Given the description of an element on the screen output the (x, y) to click on. 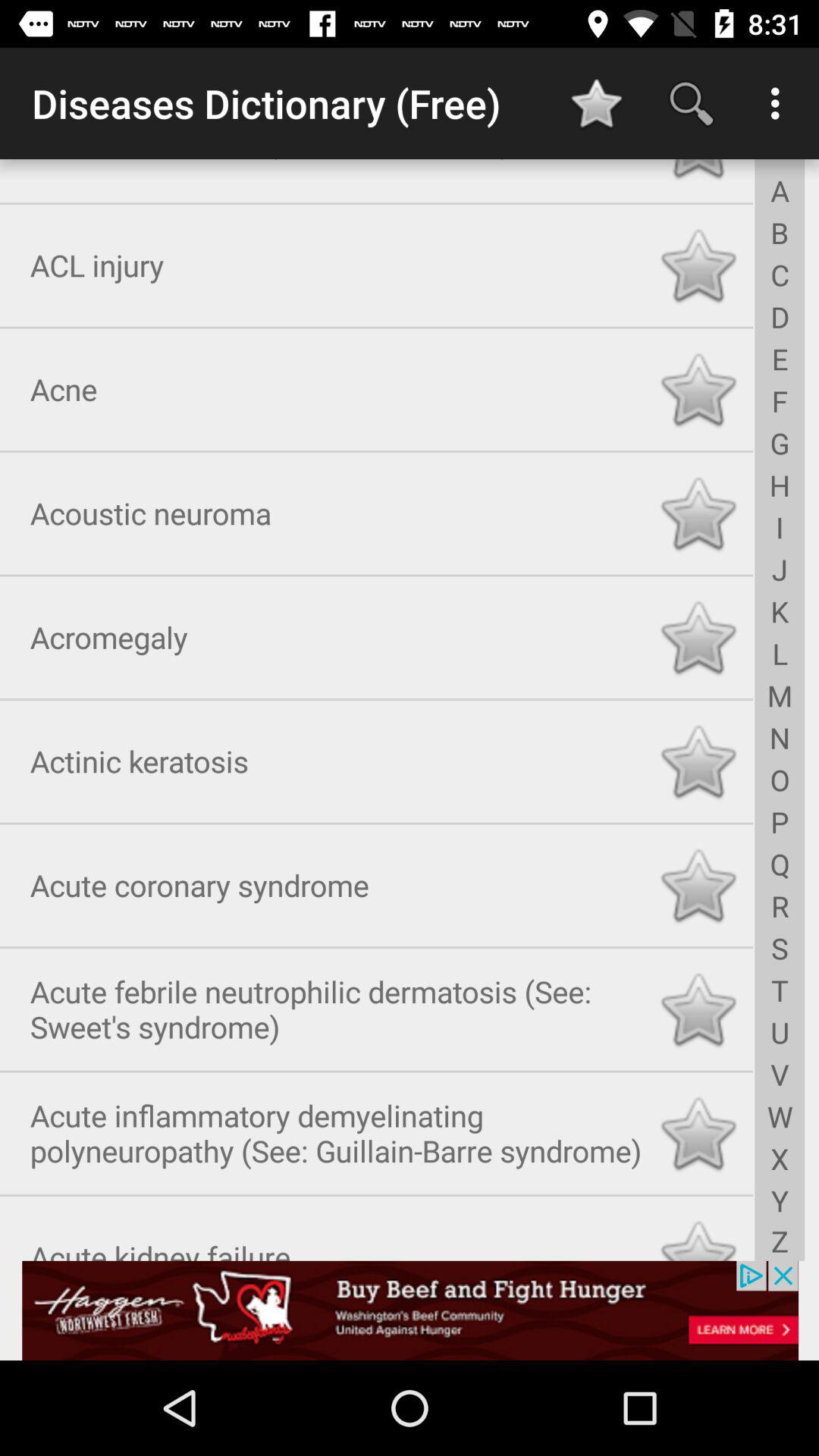
like (697, 1234)
